Given the description of an element on the screen output the (x, y) to click on. 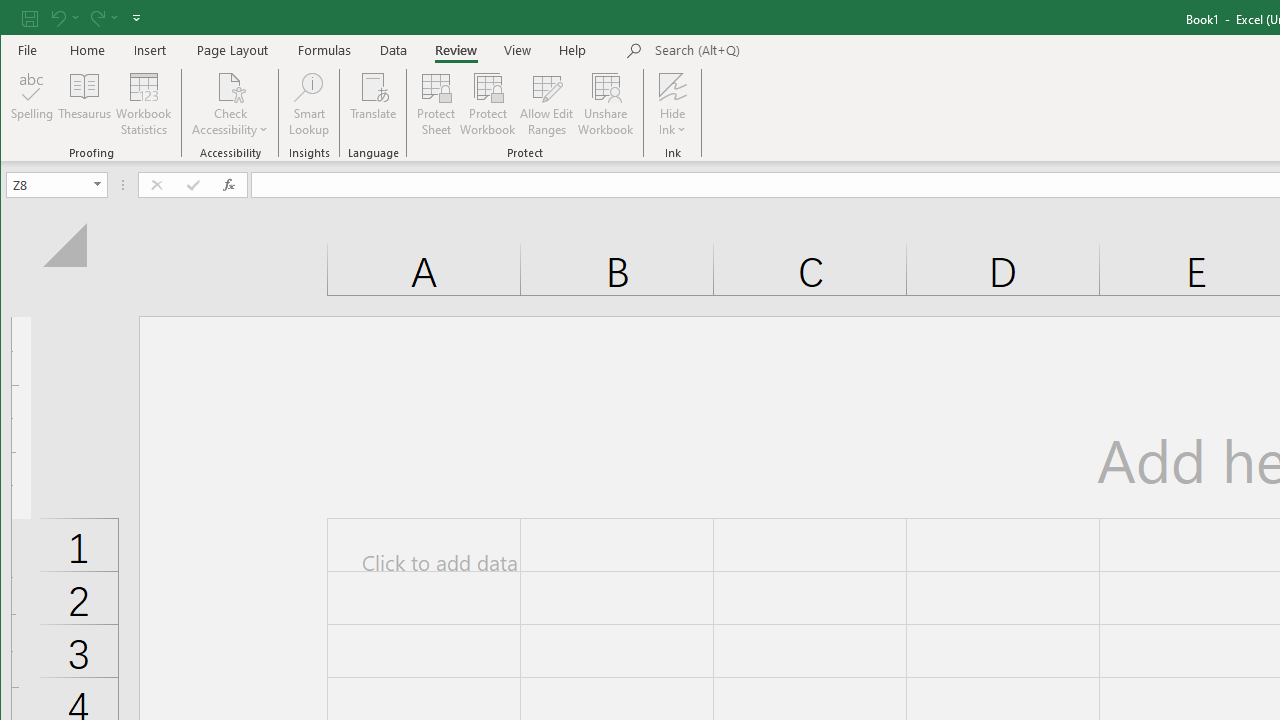
Review (456, 50)
Check Accessibility (230, 104)
File Tab (28, 49)
Home (87, 50)
